Given the description of an element on the screen output the (x, y) to click on. 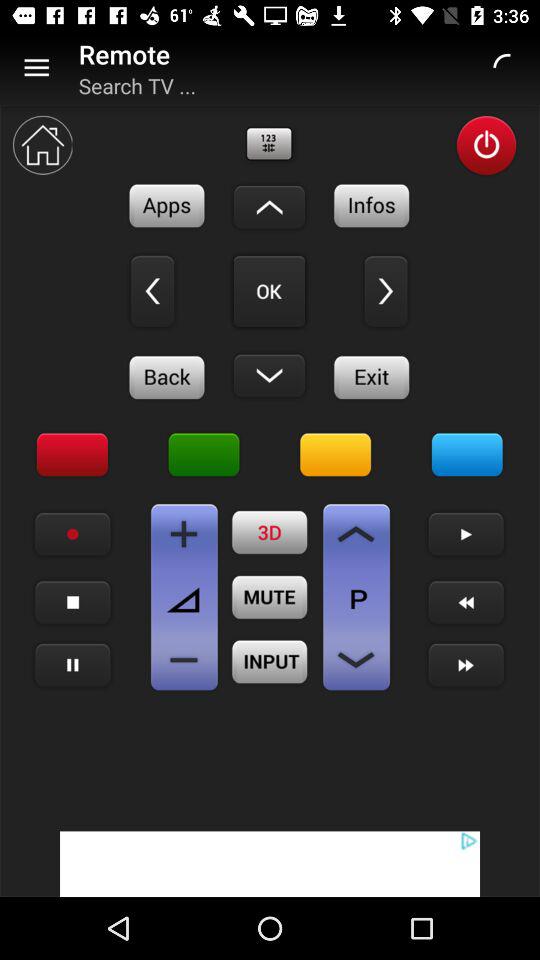
increase voloume (183, 534)
